Given the description of an element on the screen output the (x, y) to click on. 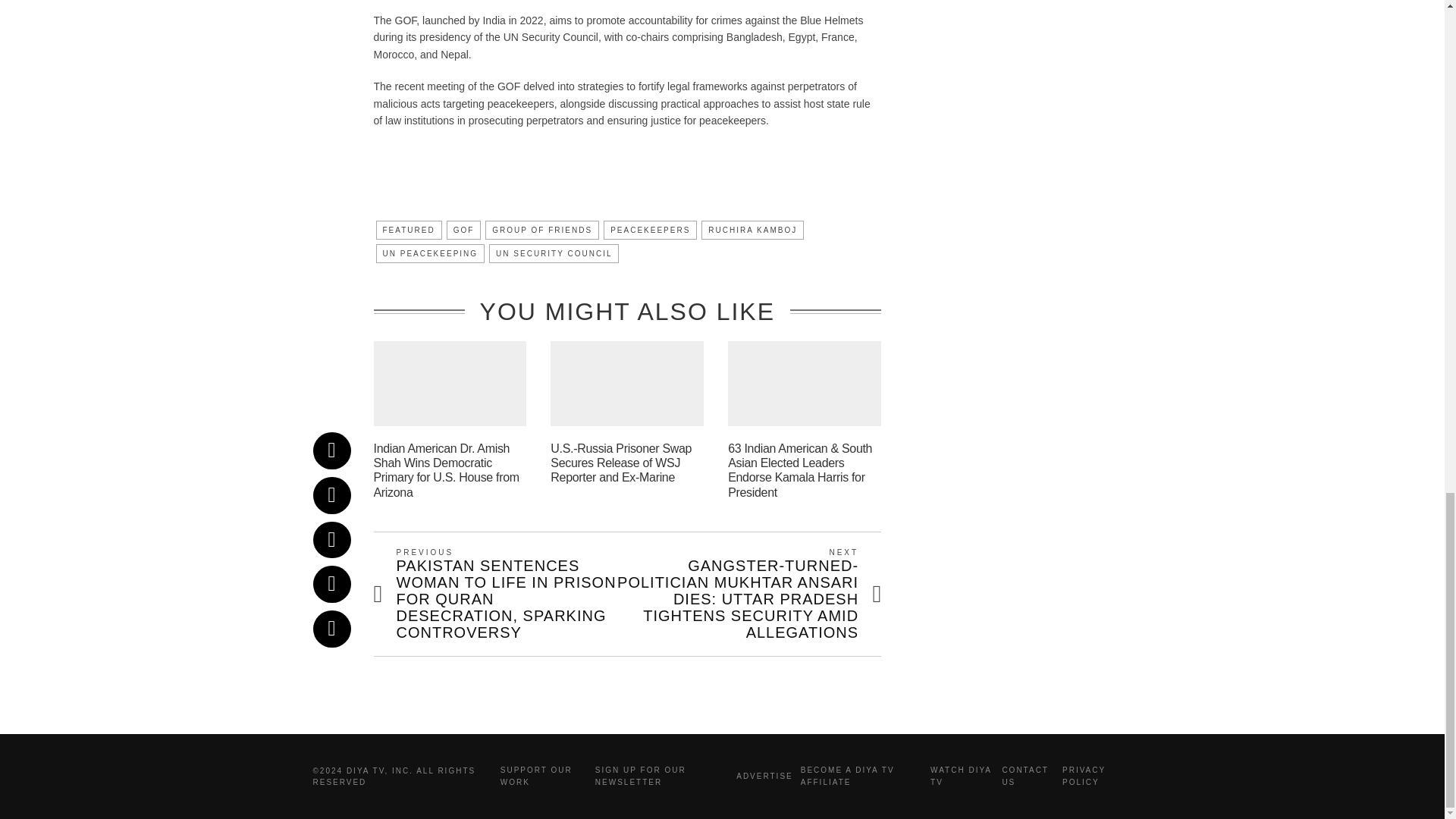
UN SECURITY COUNCIL (553, 253)
PEACEKEEPERS (650, 229)
GOF (463, 229)
RUCHIRA KAMBOJ (752, 229)
FEATURED (408, 229)
UN PEACEKEEPING (429, 253)
GROUP OF FRIENDS (541, 229)
